Given the description of an element on the screen output the (x, y) to click on. 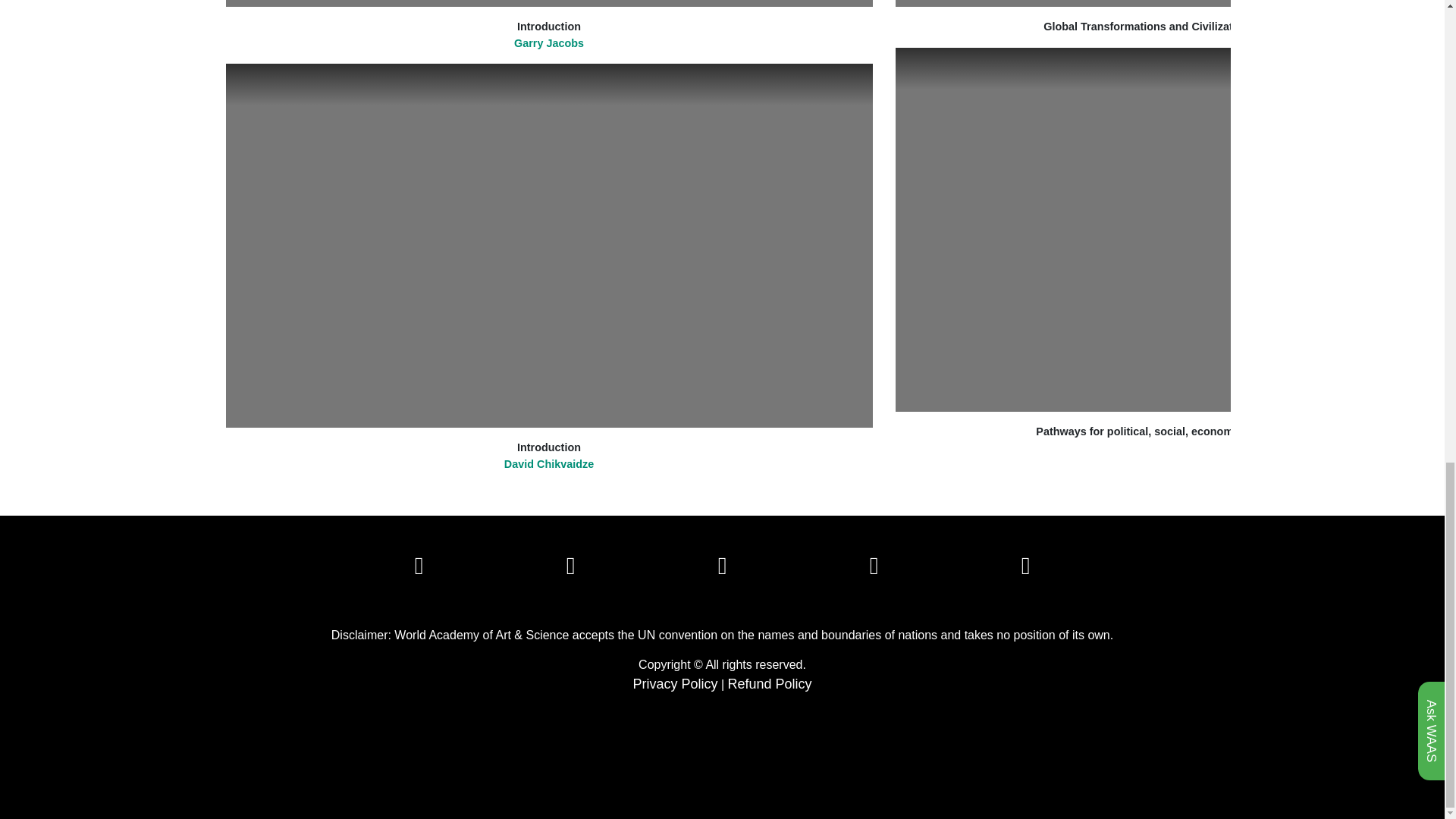
Refund Policy (770, 683)
Privacy Policy (674, 683)
